Given the description of an element on the screen output the (x, y) to click on. 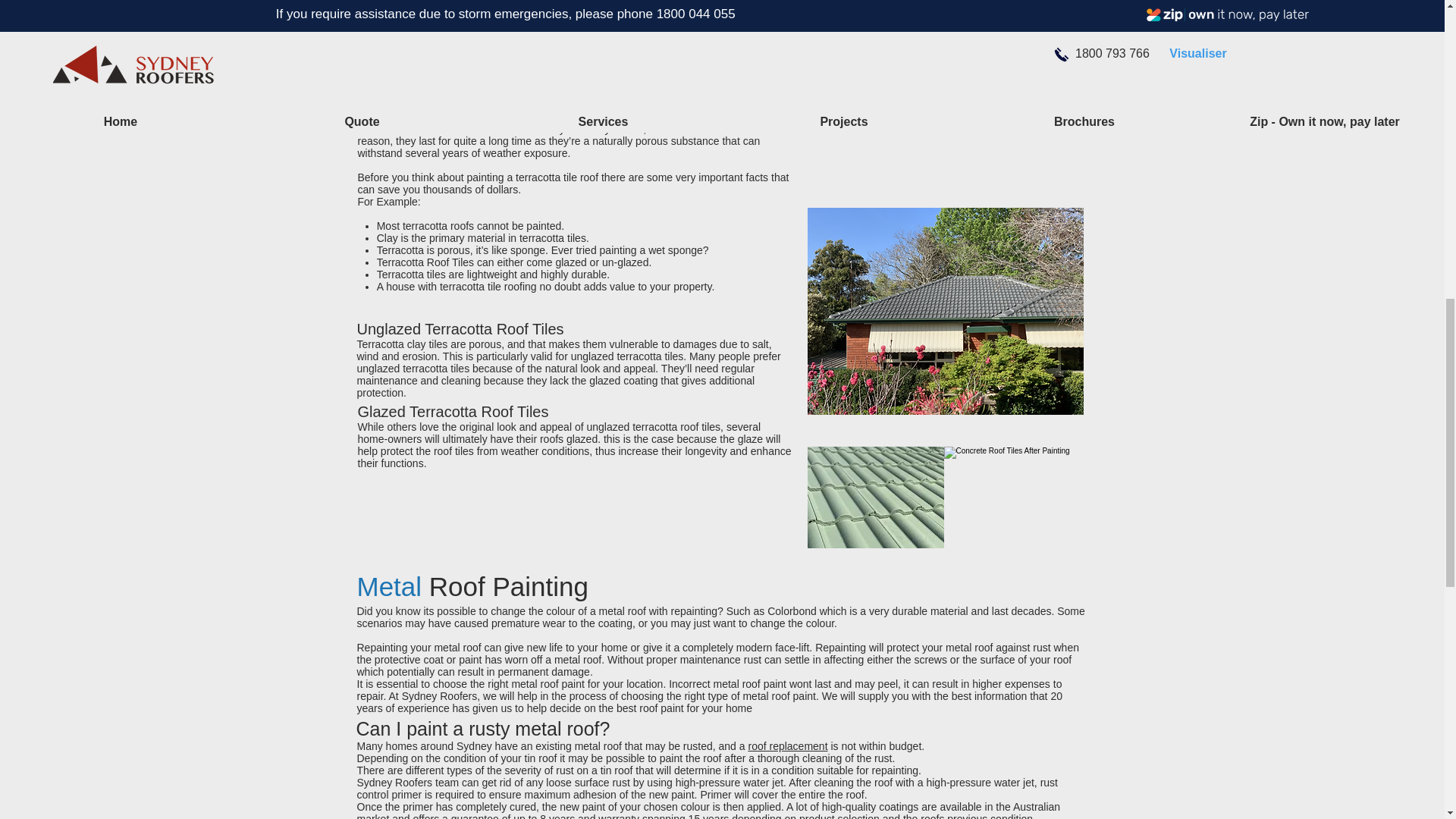
roof replacement (787, 746)
